Given the description of an element on the screen output the (x, y) to click on. 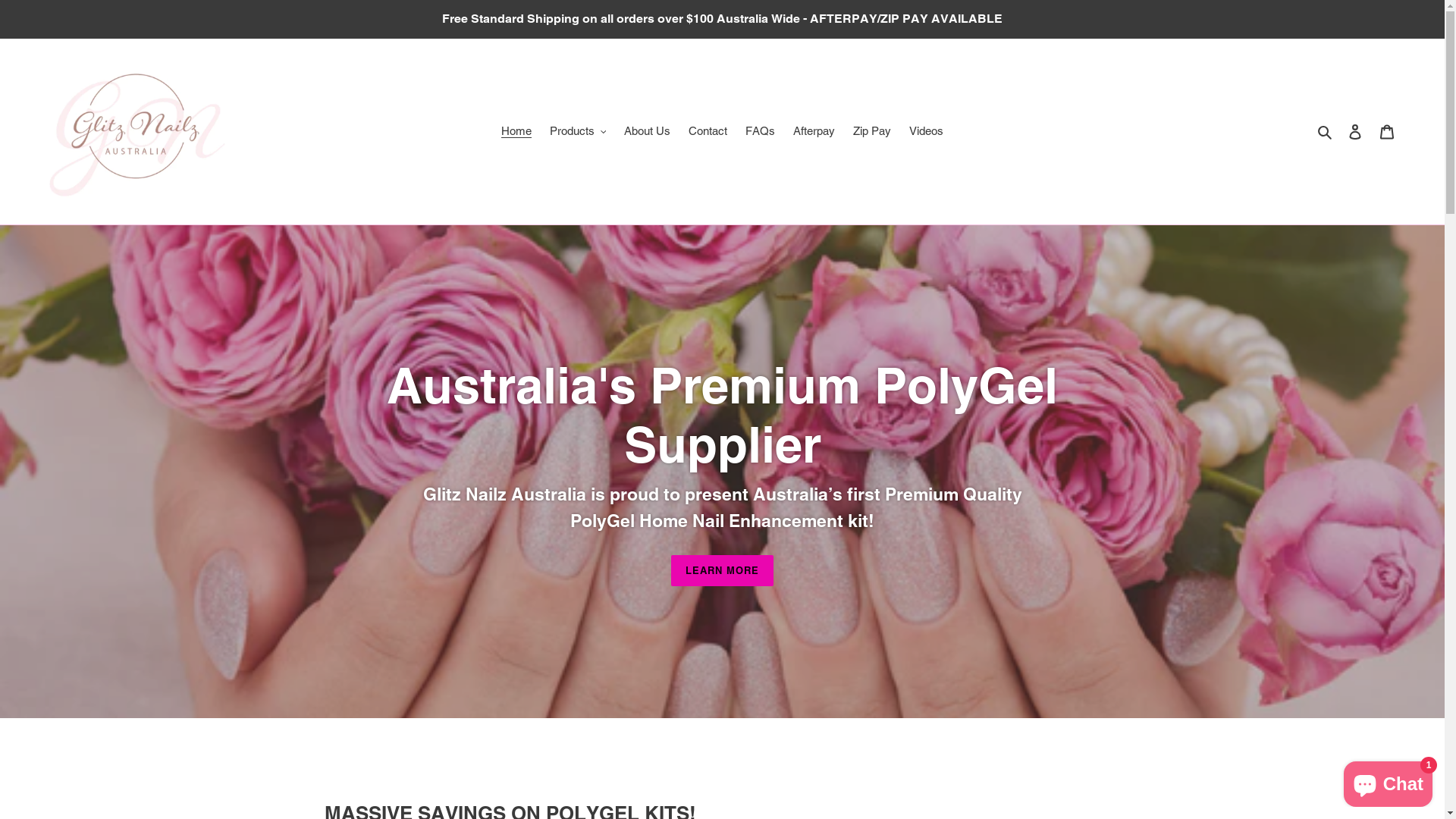
Log in Element type: text (1355, 131)
Contact Element type: text (707, 131)
Home Element type: text (516, 131)
Afterpay Element type: text (813, 131)
Shopify online store chat Element type: hover (1388, 780)
Cart Element type: text (1386, 131)
Products Element type: text (578, 131)
Search Element type: text (1325, 131)
Zip Pay Element type: text (871, 131)
FAQs Element type: text (759, 131)
Videos Element type: text (925, 131)
LEARN MORE Element type: text (722, 570)
About Us Element type: text (646, 131)
